Given the description of an element on the screen output the (x, y) to click on. 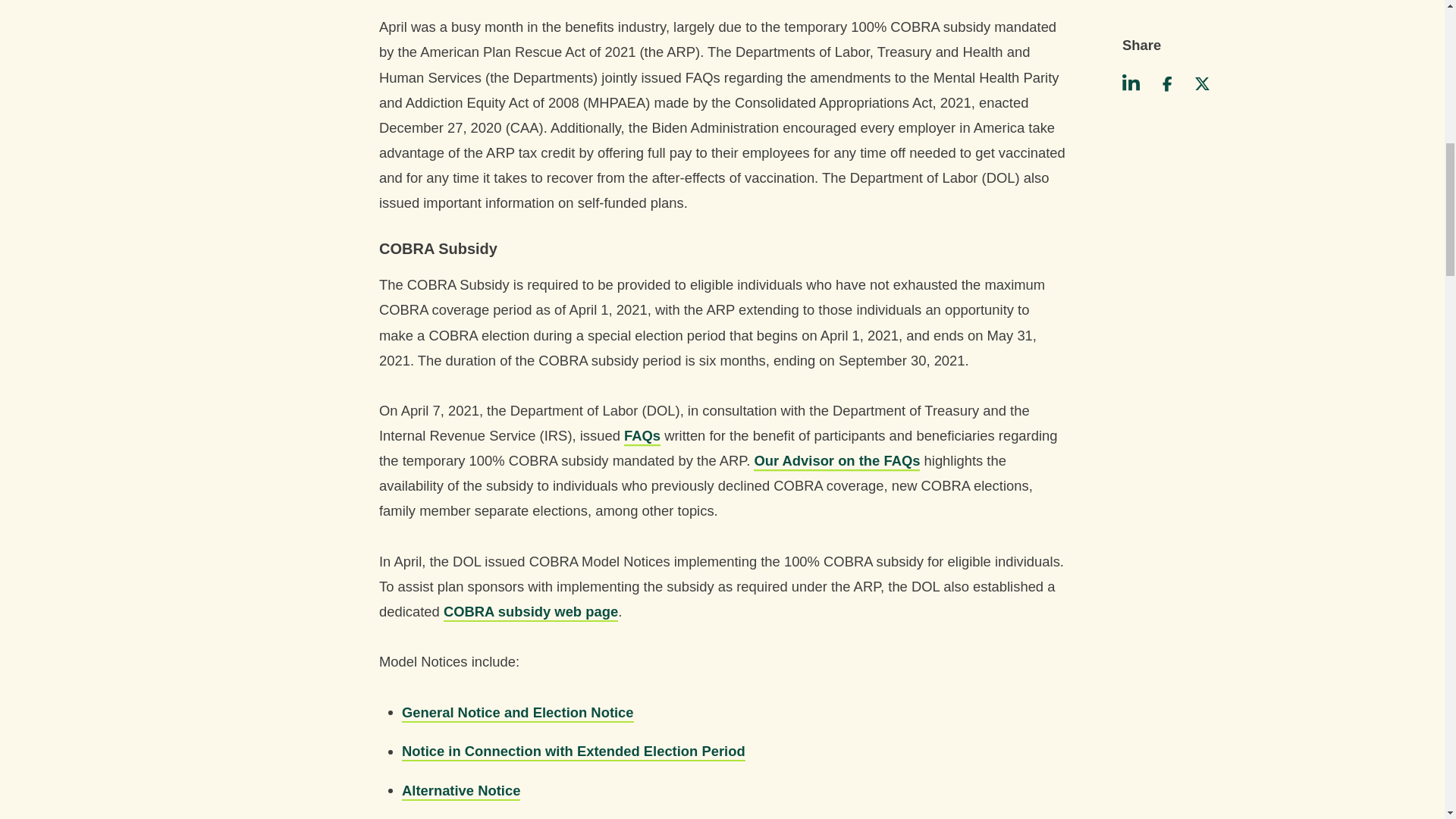
Our Advisor on the FAQs (837, 459)
Notice in Connection with Extended Election Period (573, 750)
FAQs (642, 435)
General Notice and Election Notice (517, 711)
Alternative Notice (460, 789)
COBRA subsidy web page (530, 610)
